Given the description of an element on the screen output the (x, y) to click on. 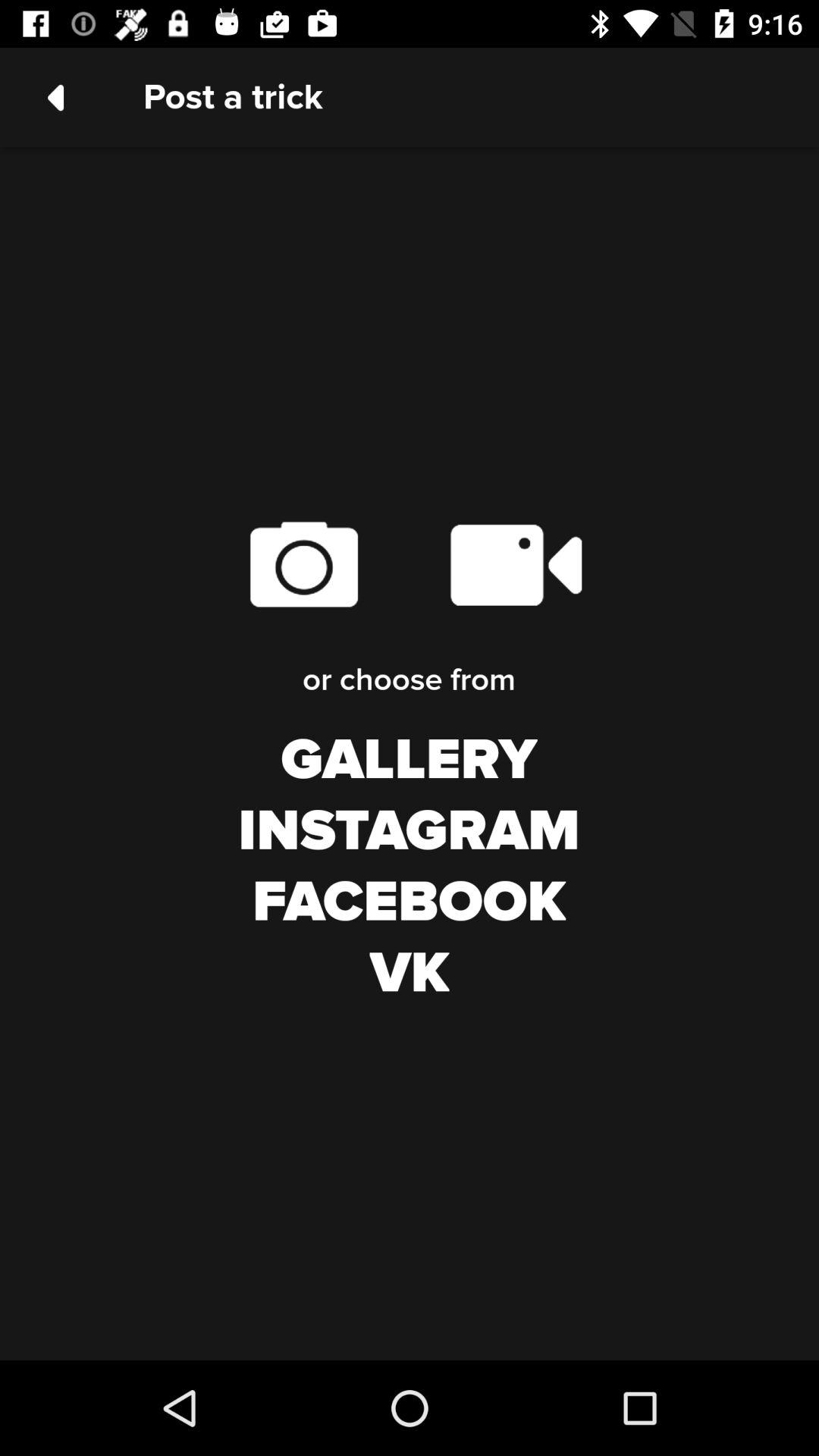
turn off item above or choose from item (303, 564)
